Given the description of an element on the screen output the (x, y) to click on. 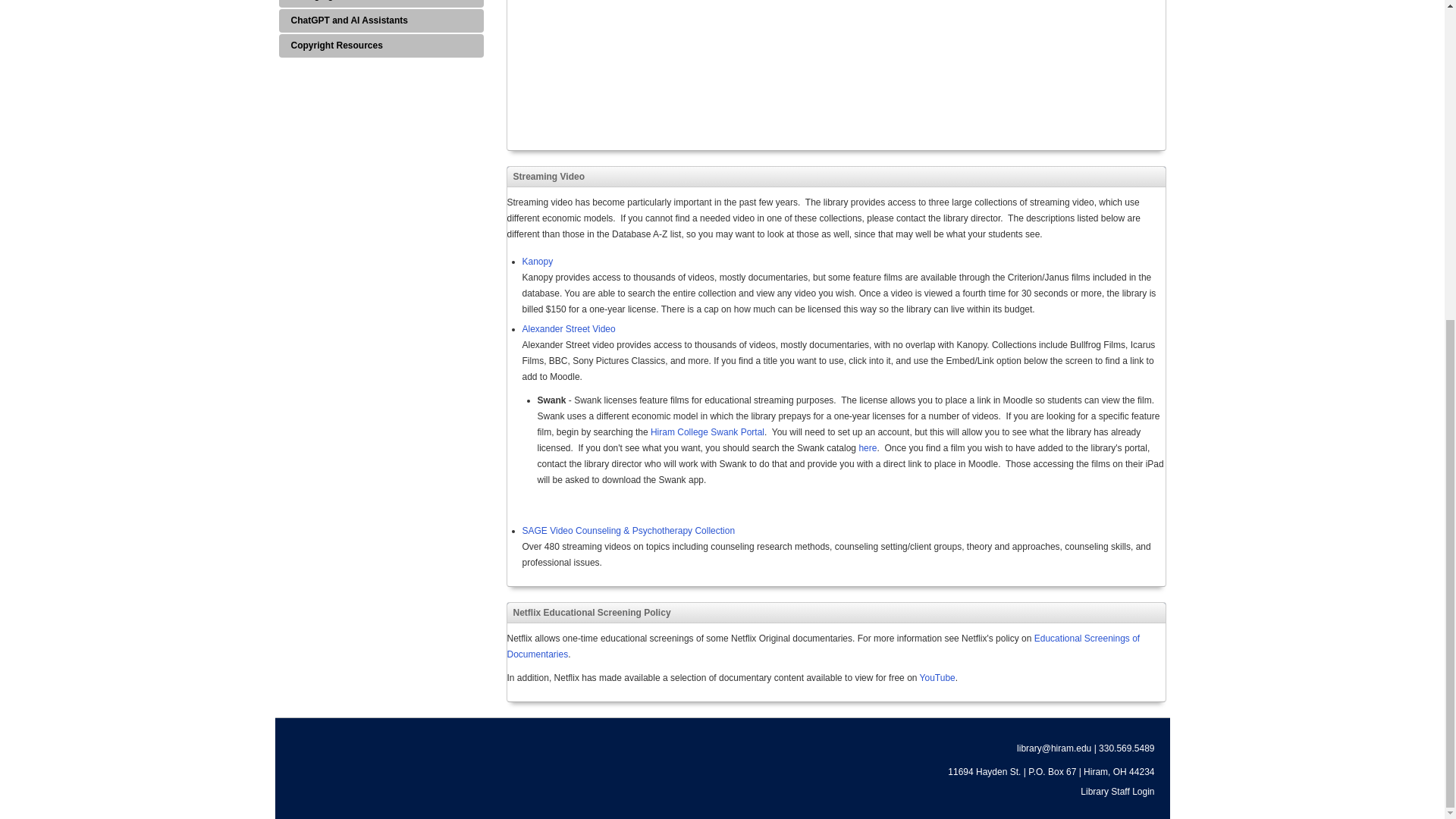
Managing Devices in the Classroom (381, 3)
Hiram College Swank Portal (707, 431)
ChatGPT and AI Assistants (381, 20)
Kanopy (381, 45)
YouTube (537, 261)
YouTube video player (937, 677)
here (718, 68)
Alexander Street Video (867, 448)
Educational Screenings of Documentaries (567, 328)
